Given the description of an element on the screen output the (x, y) to click on. 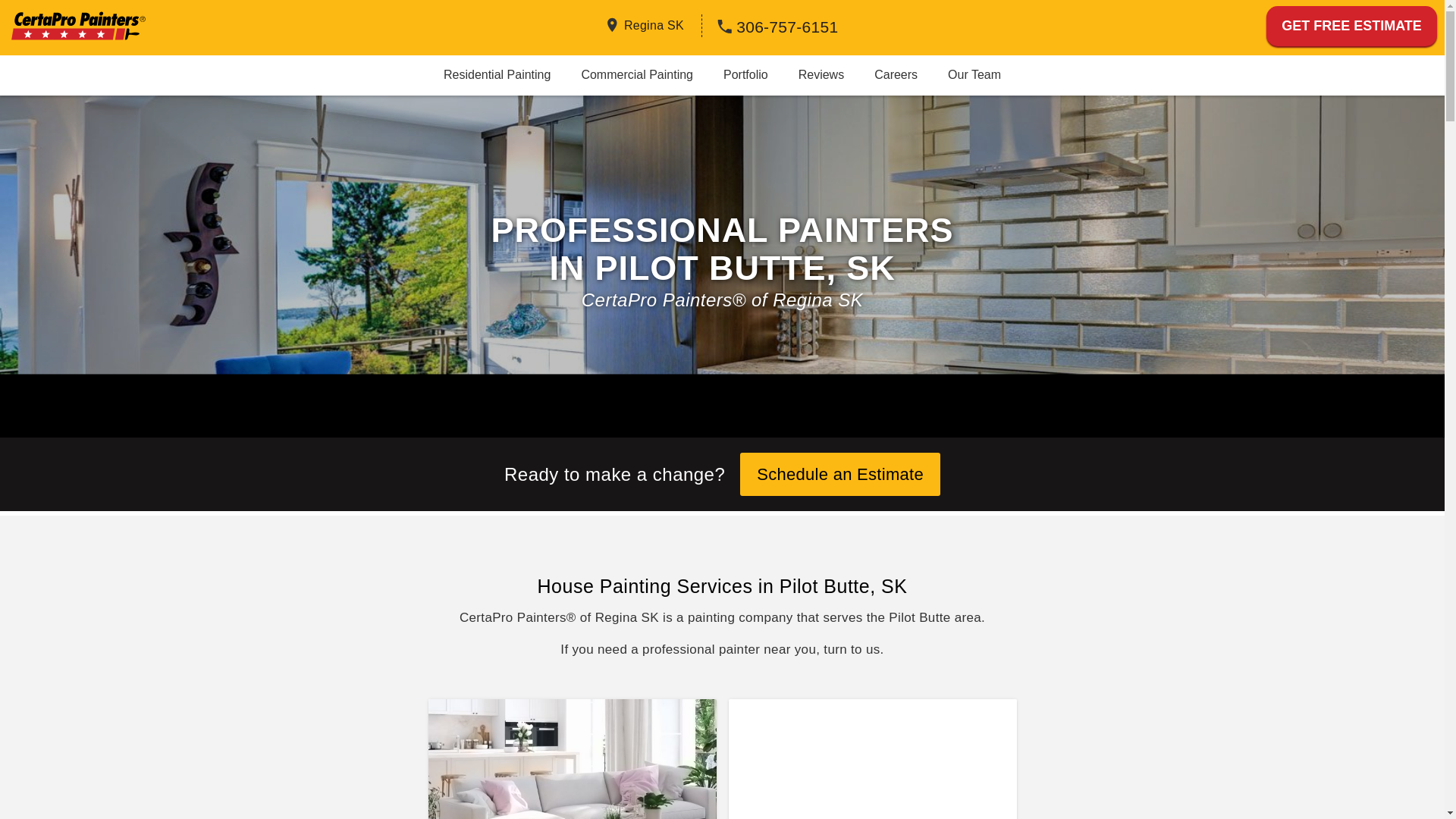
Our Team (974, 74)
Commercial Painting (636, 74)
Residential Painting (497, 74)
Portfolio (745, 74)
Regina SK (654, 24)
Reviews (821, 74)
GET FREE ESTIMATE (1351, 25)
Careers (896, 74)
